Given the description of an element on the screen output the (x, y) to click on. 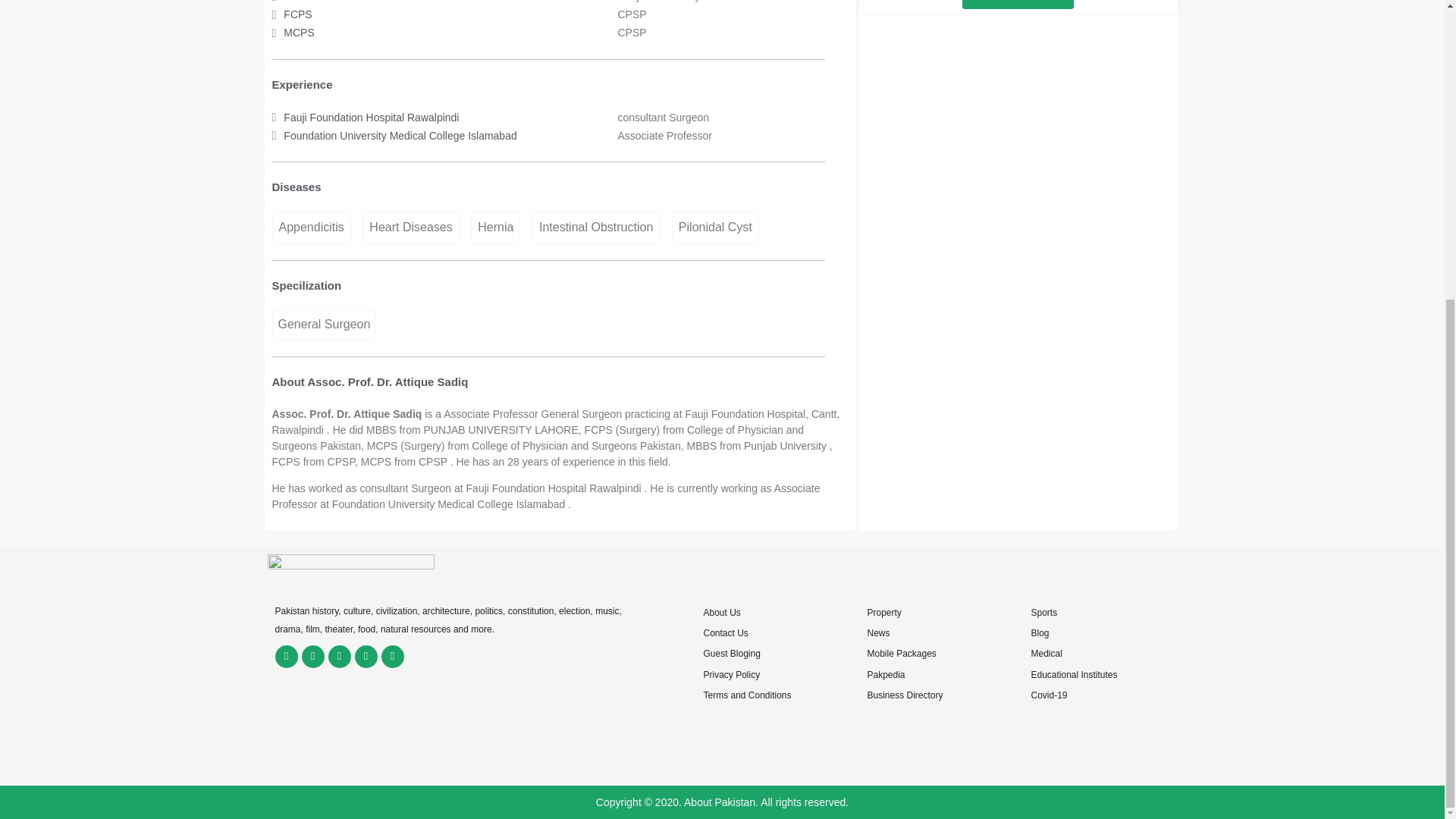
Intestinal Obstruction (595, 227)
Pakpedia (885, 674)
Privacy Policy (731, 674)
General Surgeon (322, 324)
News (877, 633)
View Details (1018, 4)
Heart Diseases (410, 227)
Mobile Packages (901, 653)
Business Directory (904, 695)
Terms and Conditions (746, 695)
About Us (721, 612)
Property (883, 612)
Appendicitis (310, 227)
Pilonidal Cyst (714, 227)
Hernia (494, 227)
